Given the description of an element on the screen output the (x, y) to click on. 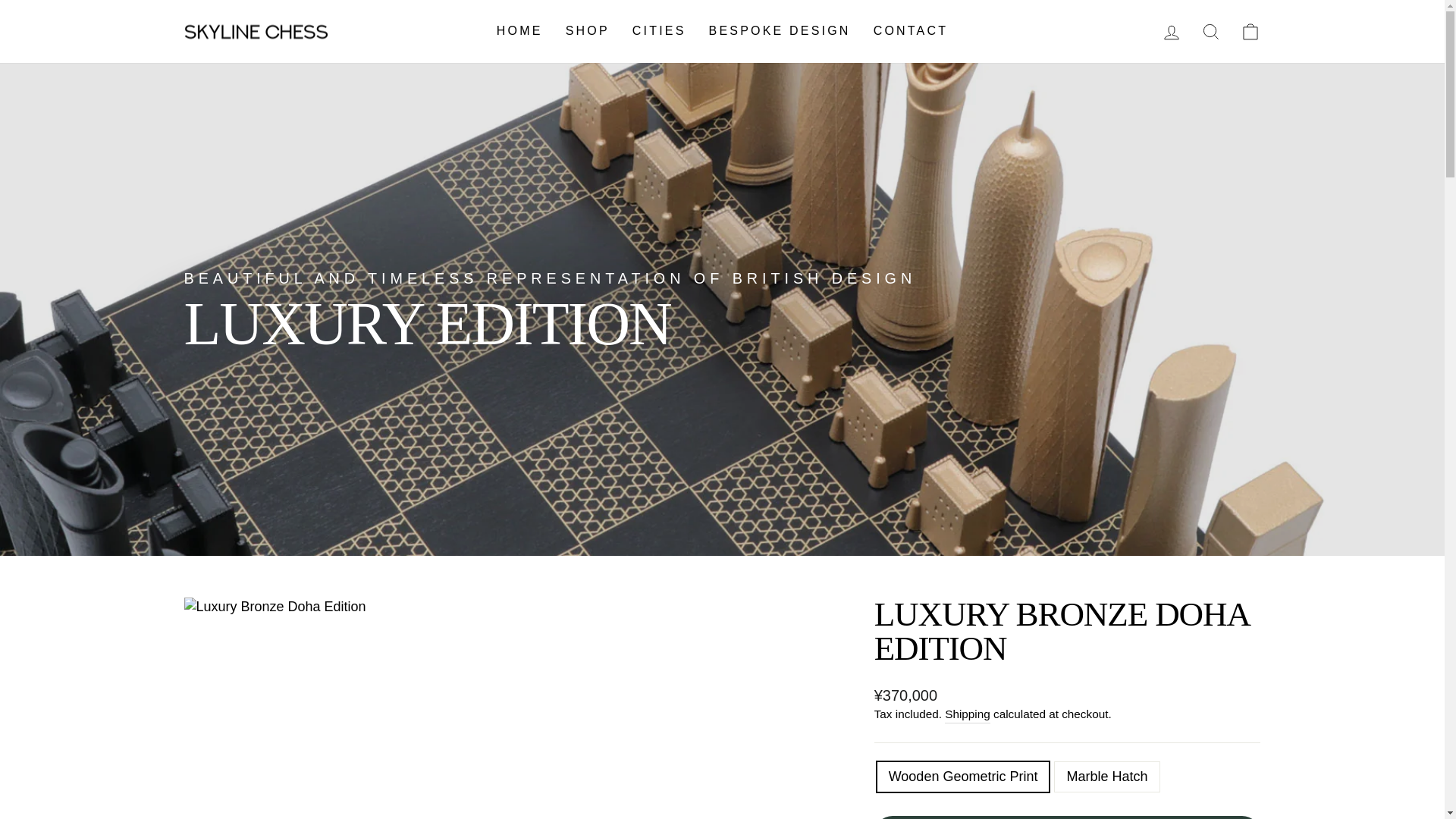
CITIES (659, 31)
SHOP (587, 31)
HOME (519, 31)
